Given the description of an element on the screen output the (x, y) to click on. 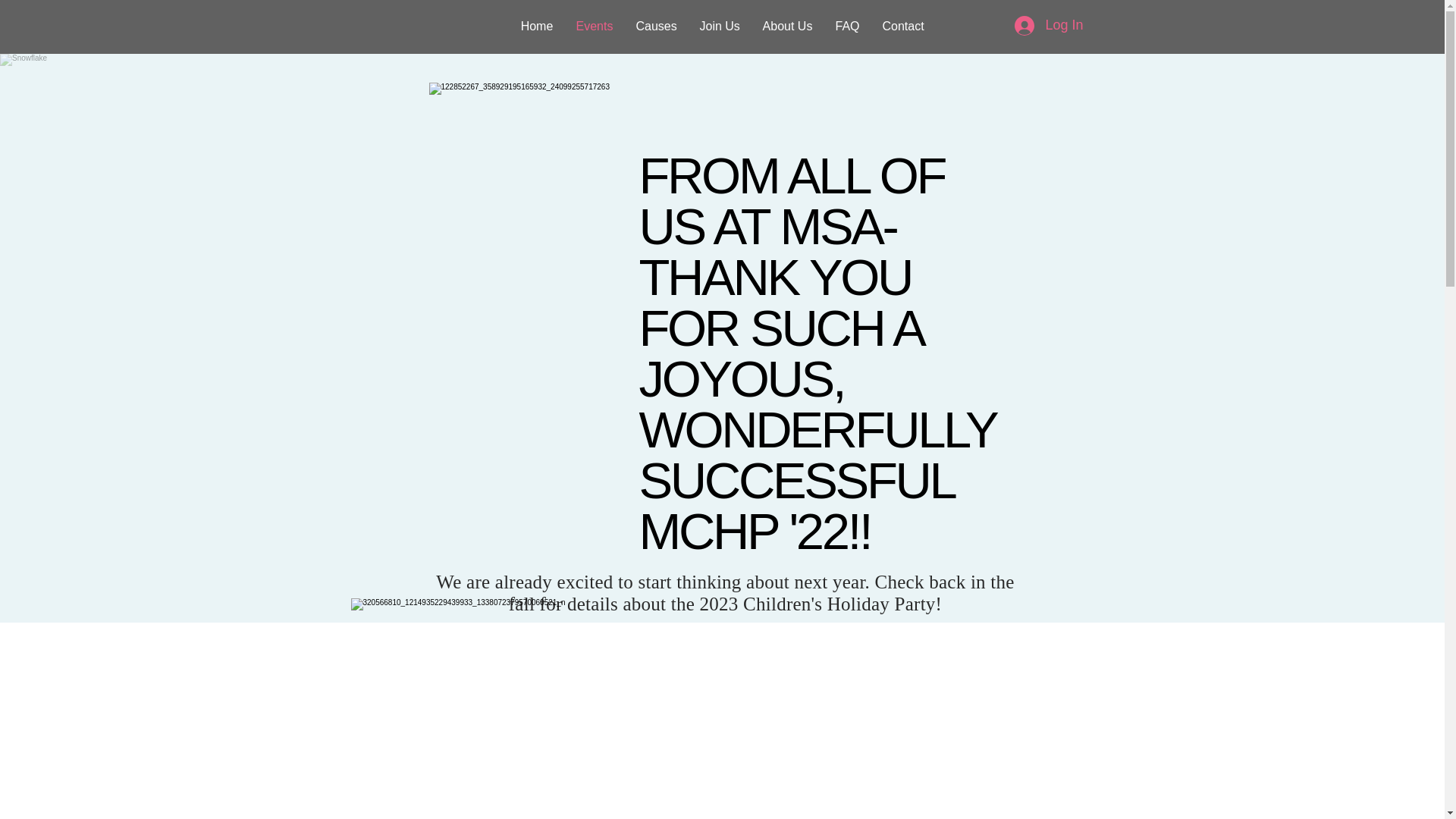
Join Us (719, 26)
Causes (656, 26)
Events (594, 26)
About Us (787, 26)
Log In (1048, 25)
Contact (902, 26)
Home (536, 26)
FAQ (847, 26)
